Given the description of an element on the screen output the (x, y) to click on. 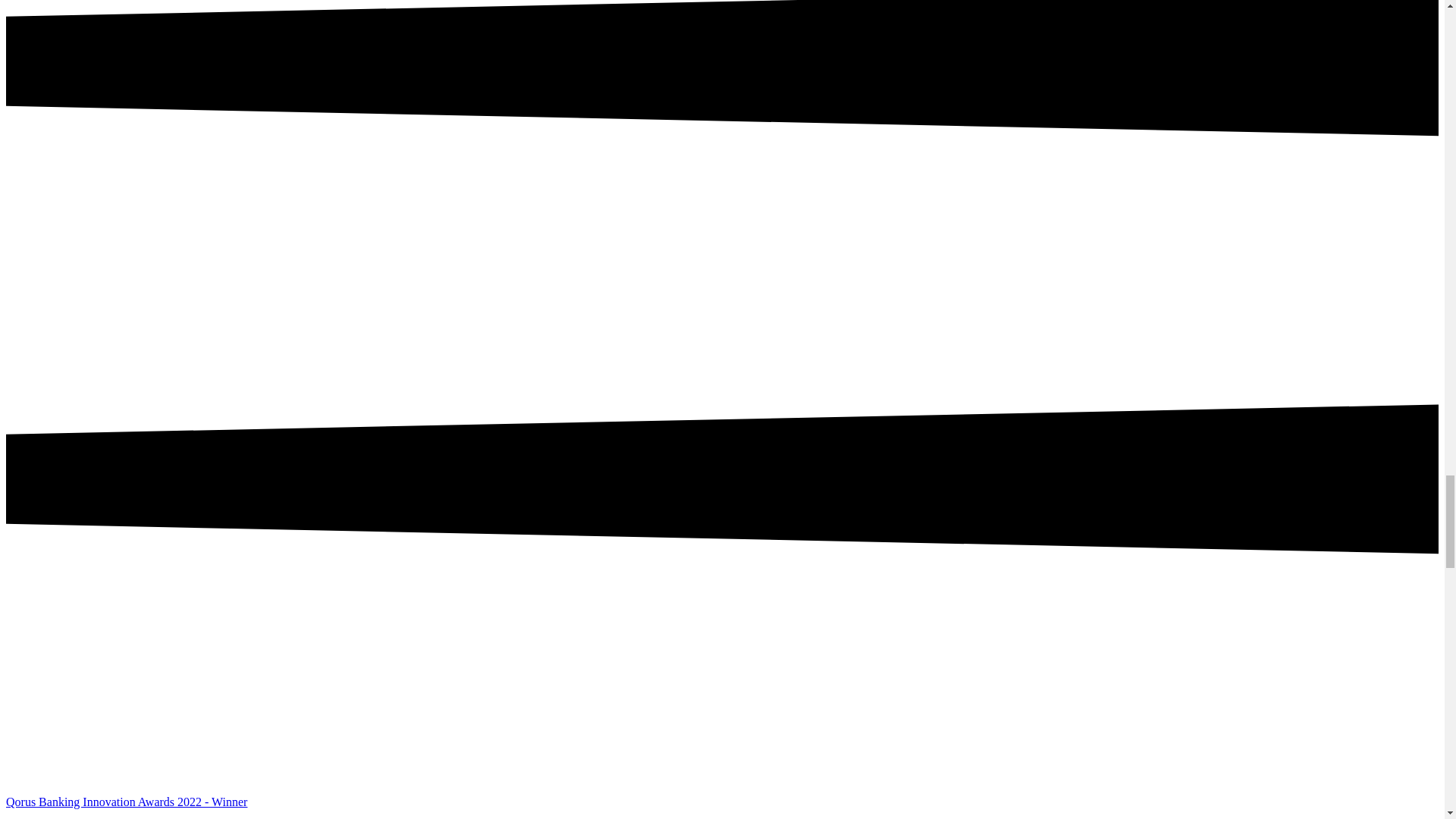
Qorus Banking Innovation Awards 2022 - Winner (126, 801)
